Given the description of an element on the screen output the (x, y) to click on. 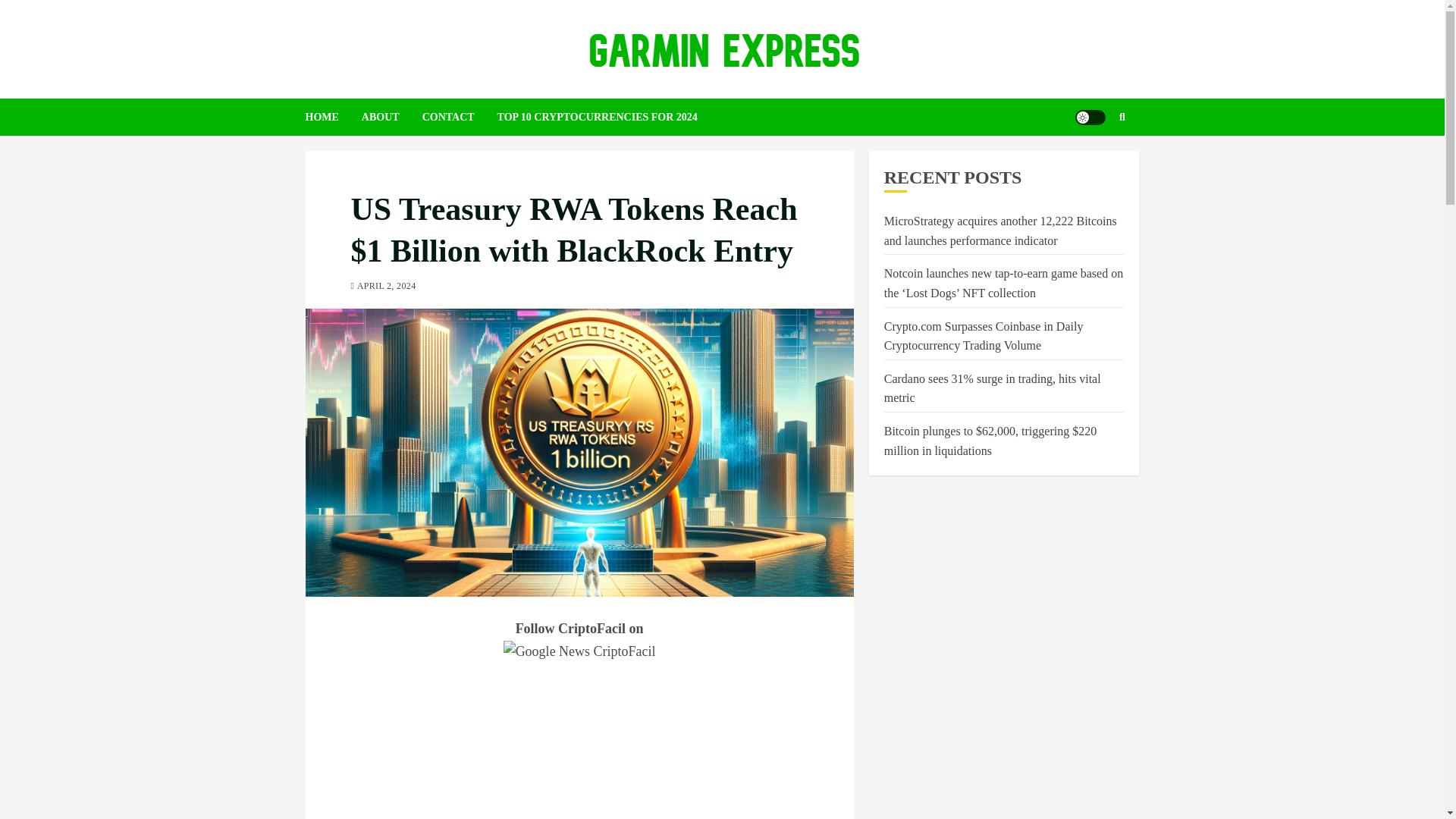
APRIL 2, 2024 (386, 254)
TOP 10 CRYPTOCURRENCIES FOR 2024 (608, 84)
Search (1092, 130)
HOME (332, 84)
ABOUT (391, 84)
CONTACT (459, 84)
Argentina fines Worldcoin 194 million pesos (992, 345)
